Given the description of an element on the screen output the (x, y) to click on. 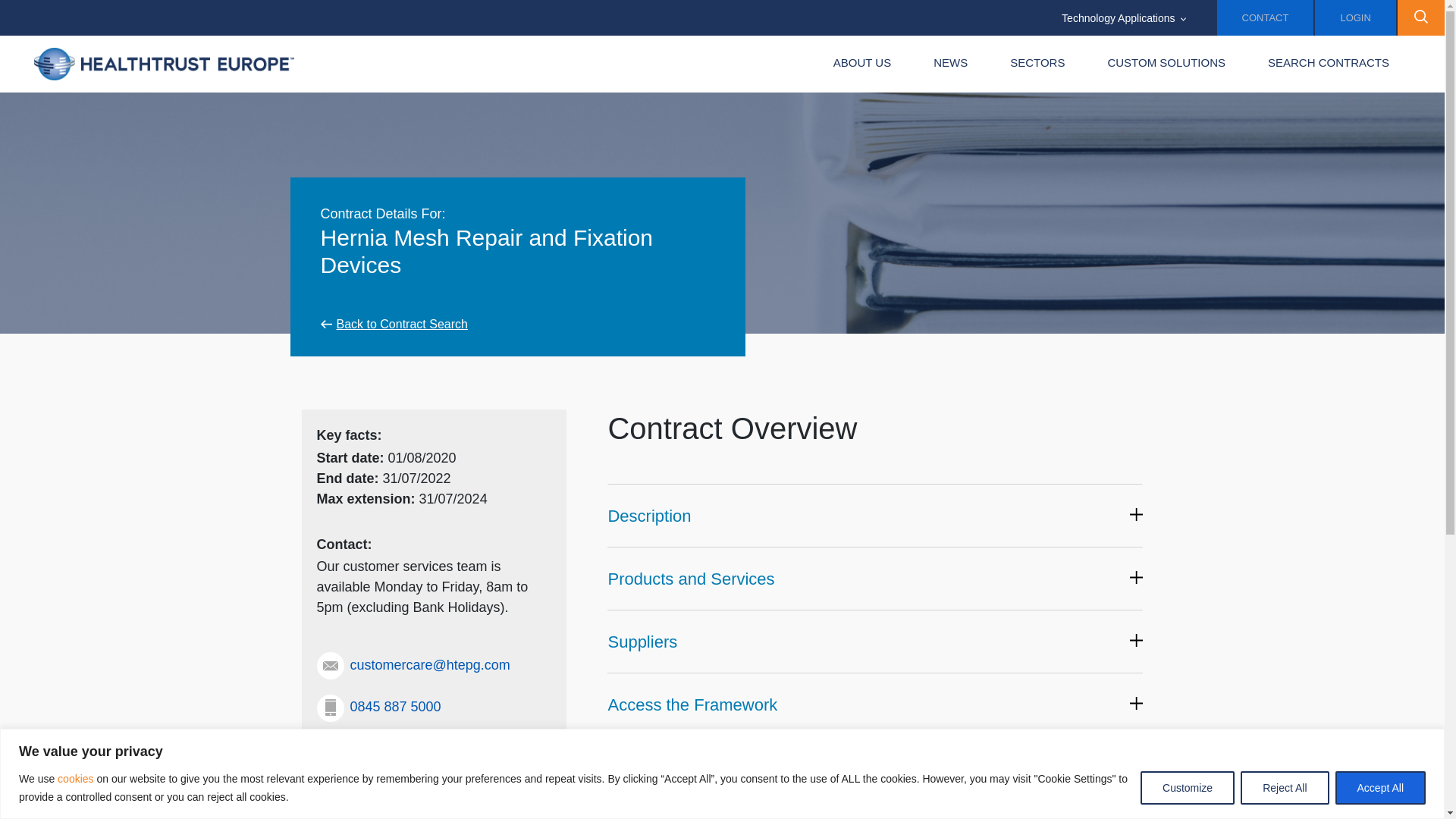
Sectors (1037, 63)
Technology Applications (1123, 18)
ABOUT US (862, 63)
LOGIN (1354, 18)
Reject All (1283, 786)
CONTACT (1265, 18)
Accept All (1380, 786)
NEWS (950, 63)
About Us (862, 63)
Customize (1187, 786)
